Given the description of an element on the screen output the (x, y) to click on. 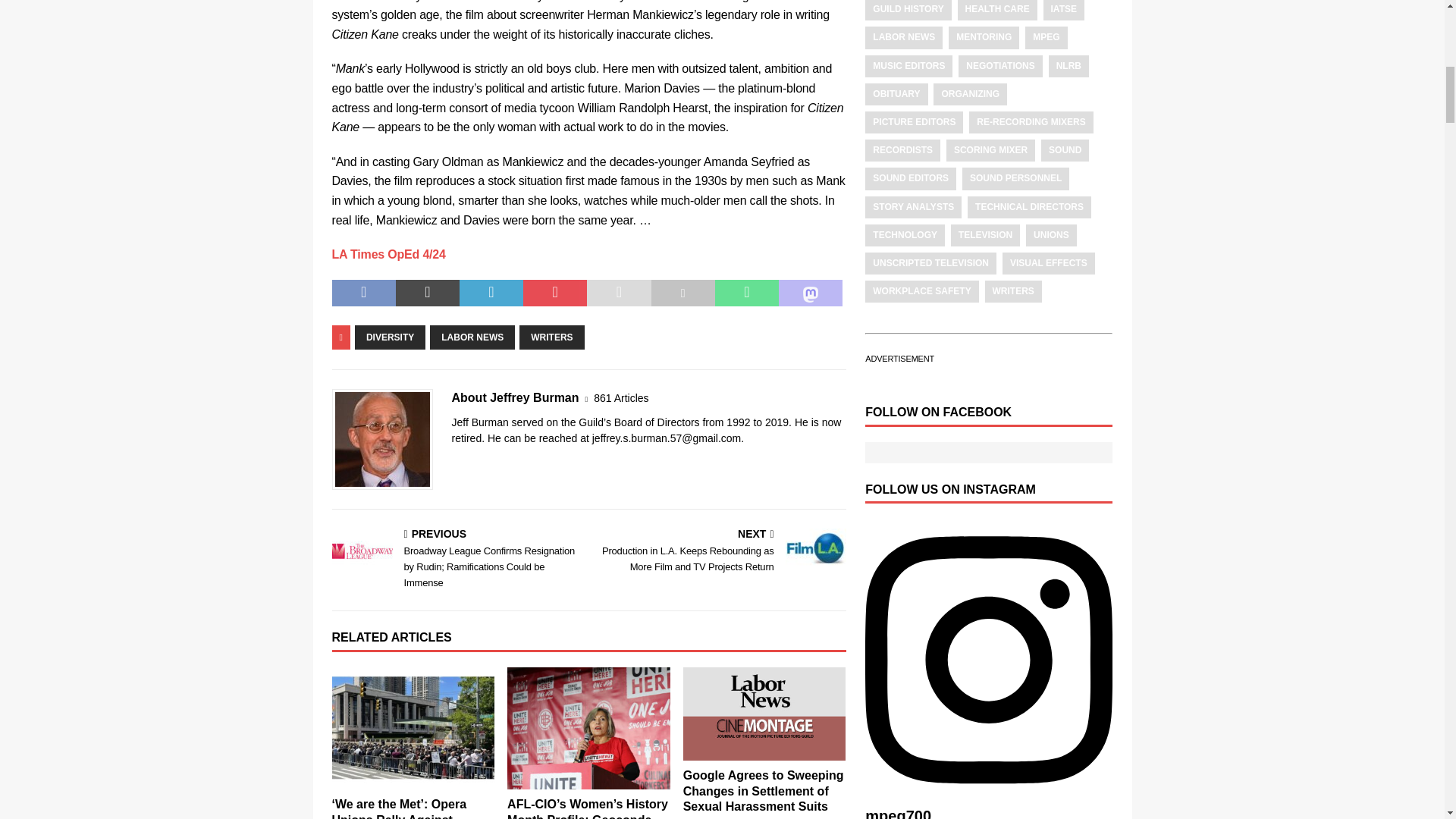
Send this article to a friend (618, 293)
Pin This Post (554, 293)
Share On Mastodon (810, 293)
More articles written by Jeffrey Burman' (620, 398)
Share on Facebook (363, 293)
Share on Whatsapp (746, 293)
Share on LinkedIn (491, 293)
Print this article (682, 293)
Tweet This Post (428, 293)
